Given the description of an element on the screen output the (x, y) to click on. 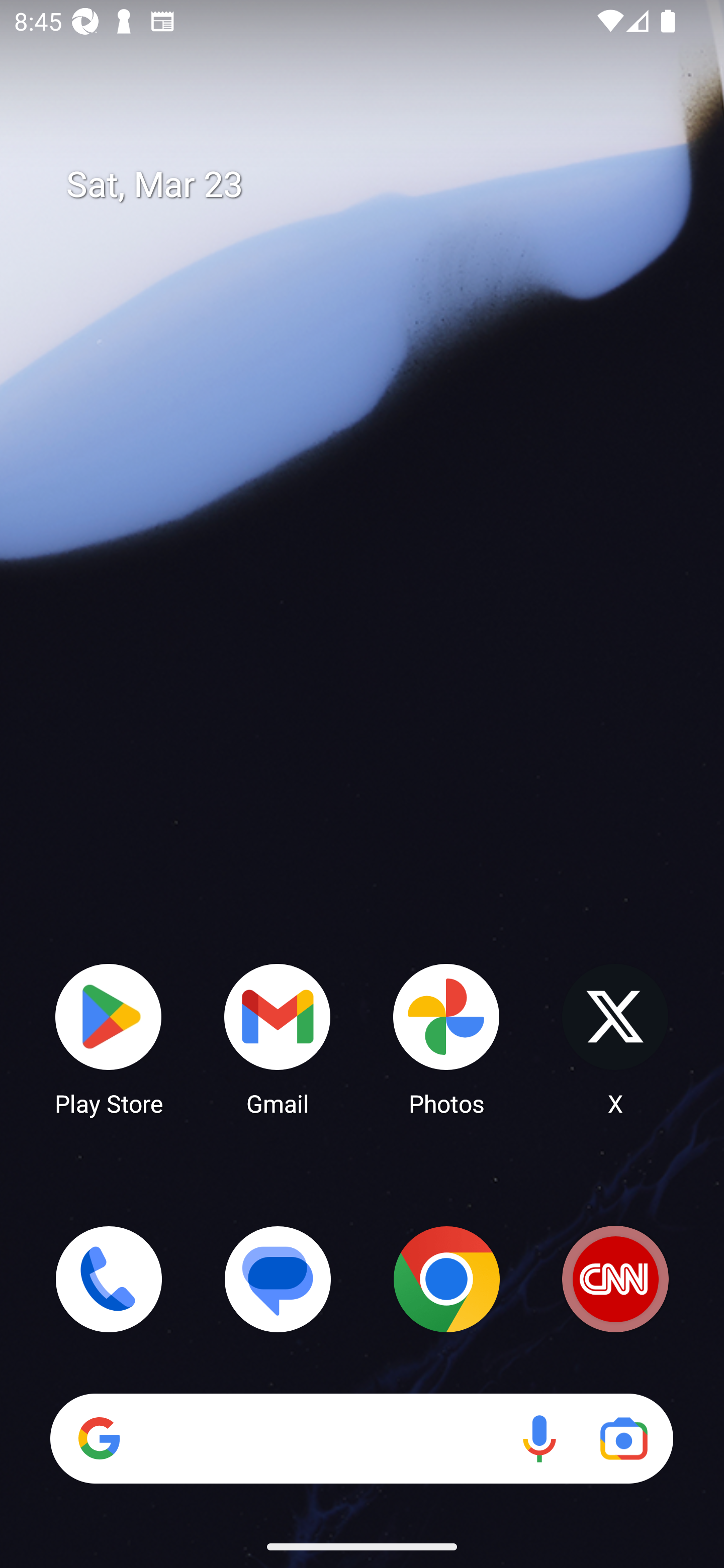
Sat, Mar 23 (375, 184)
Play Store (108, 1038)
Gmail (277, 1038)
Photos (445, 1038)
X (615, 1038)
Phone (108, 1279)
Messages (277, 1279)
Chrome (446, 1279)
CNN Predicted app: CNN (615, 1279)
Voice search (539, 1438)
Google Lens (623, 1438)
